Given the description of an element on the screen output the (x, y) to click on. 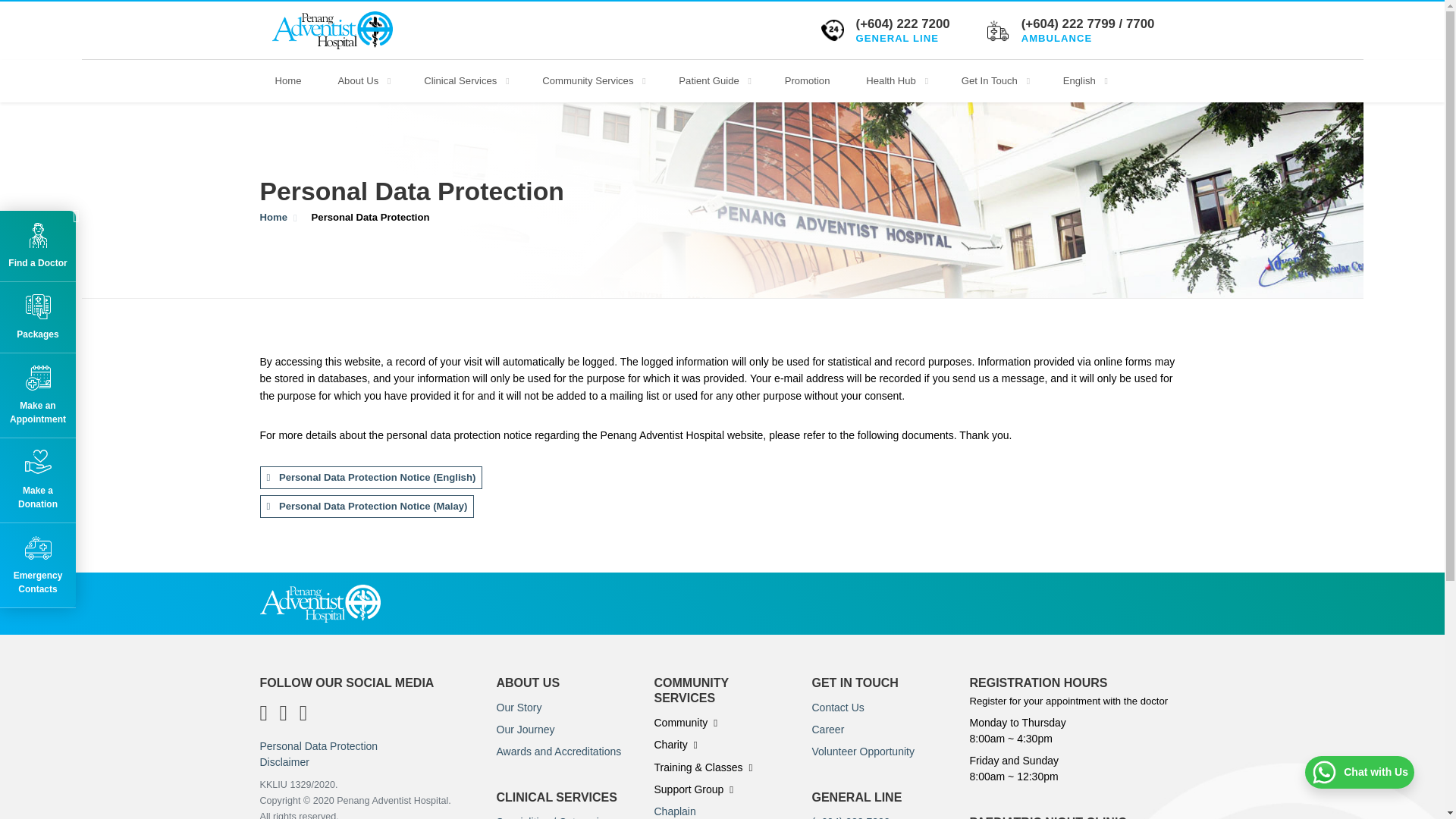
Clinical Services (465, 81)
Home (287, 81)
About Us (362, 81)
